Given the description of an element on the screen output the (x, y) to click on. 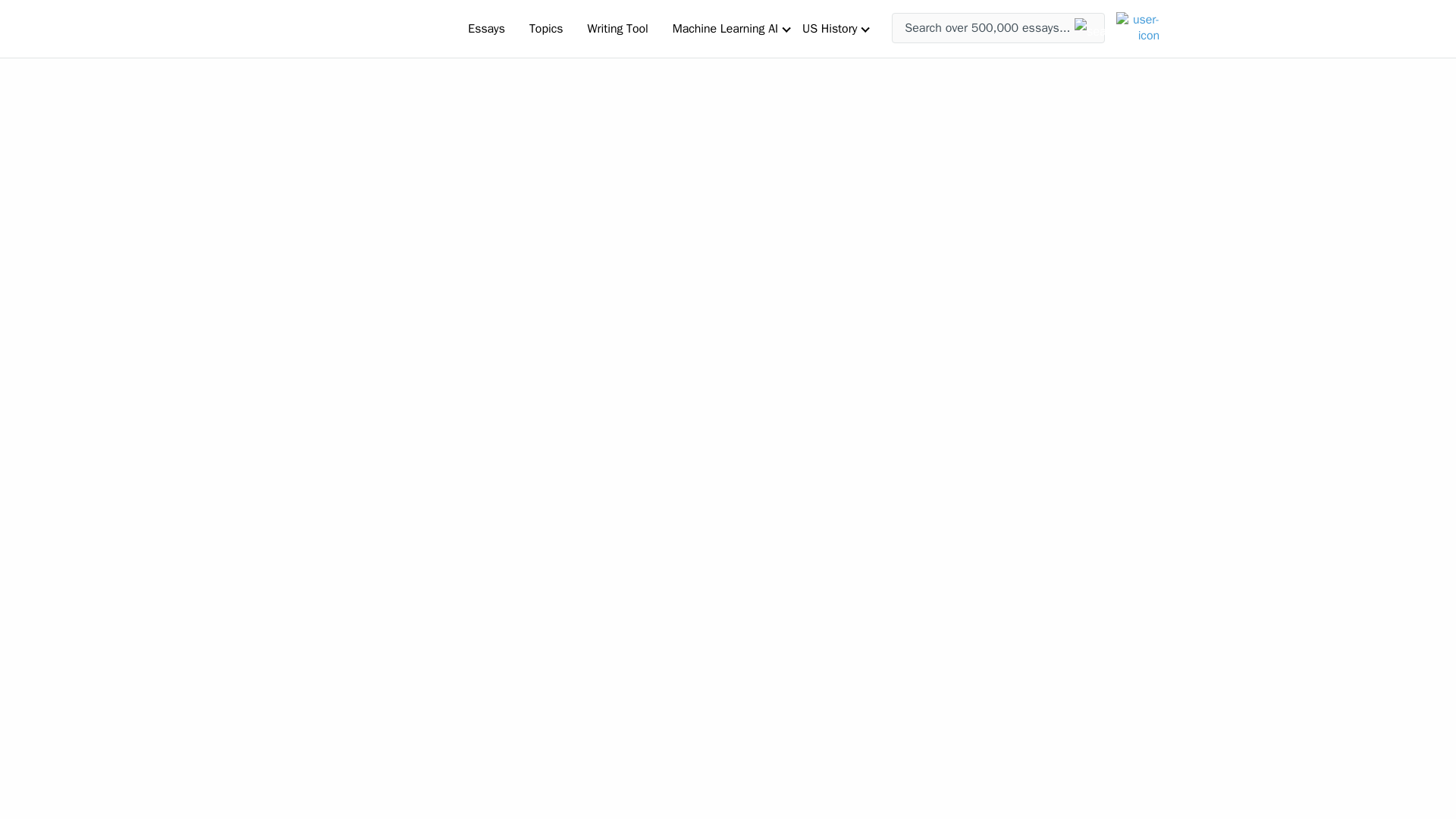
Essays (485, 28)
Topics (545, 28)
Writing Tool (617, 28)
US History (829, 28)
Machine Learning AI (725, 28)
